Given the description of an element on the screen output the (x, y) to click on. 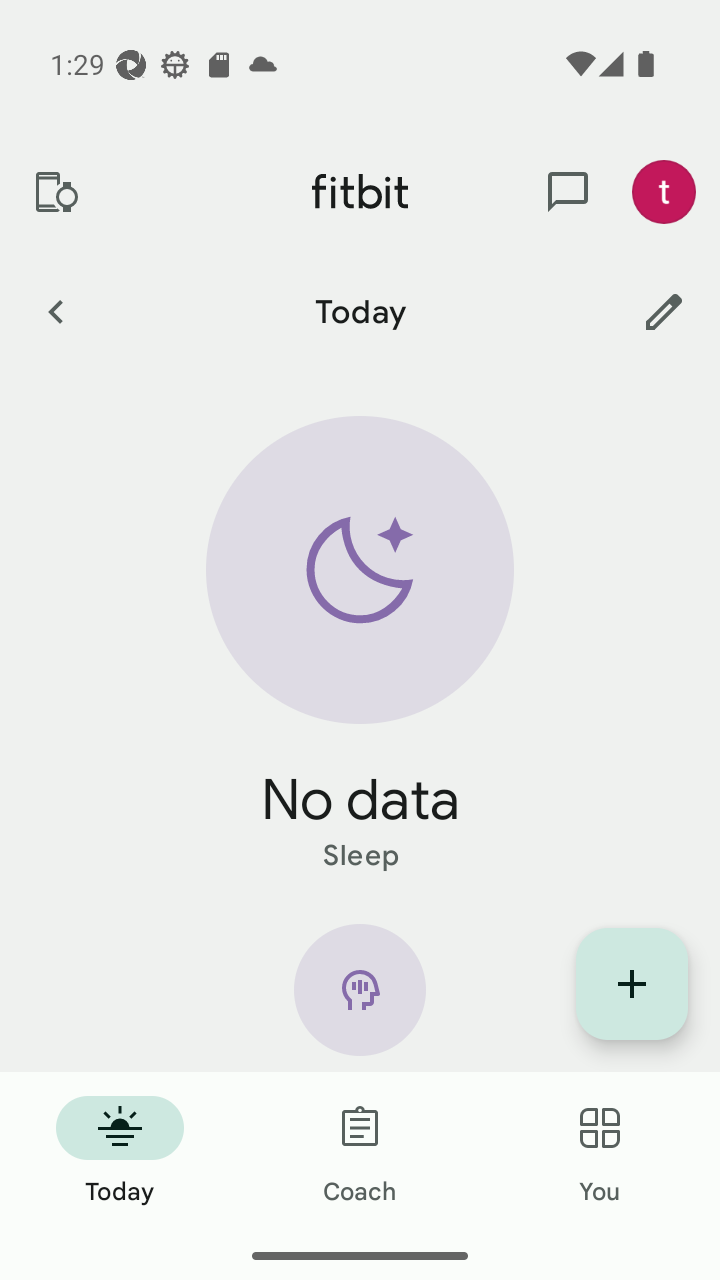
Devices and apps (55, 191)
messages and notifications (567, 191)
Previous Day (55, 311)
Customize (664, 311)
Sleep static hero arc No data Sleep (359, 645)
Mindfulness icon (360, 998)
Display list of quick log entries (632, 983)
Coach (359, 1151)
You (600, 1151)
